Given the description of an element on the screen output the (x, y) to click on. 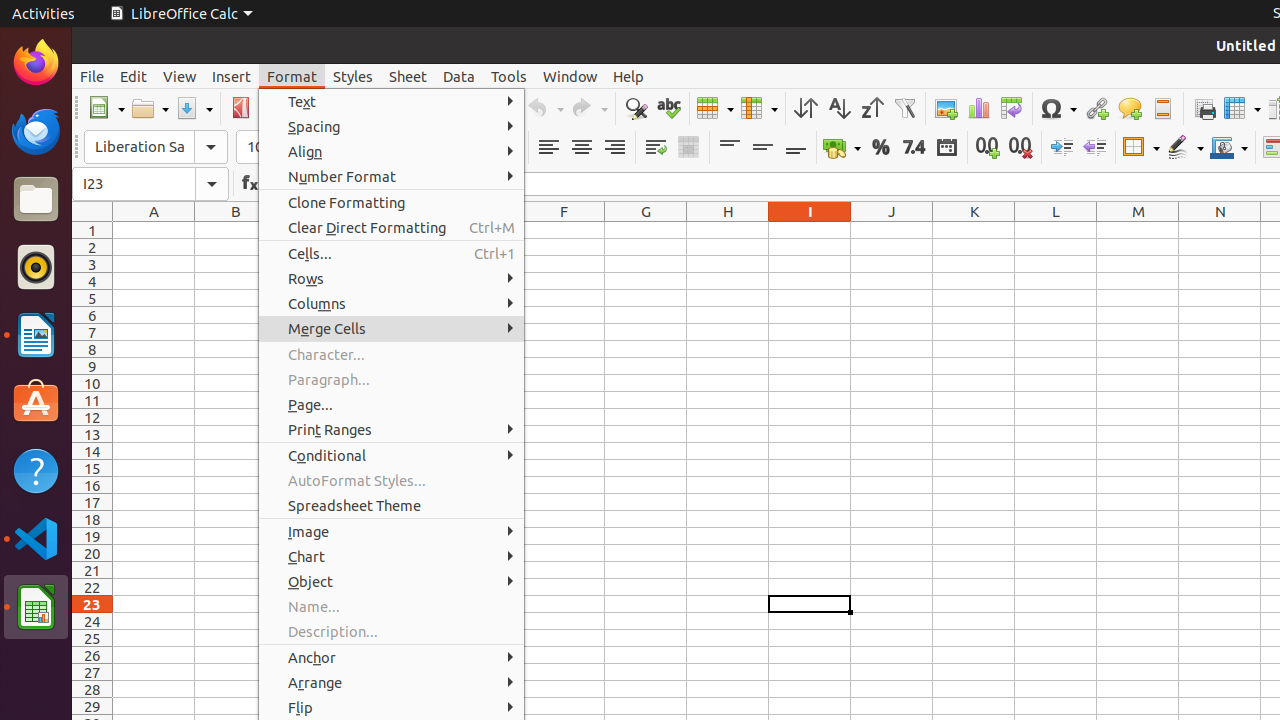
N1 Element type: table-cell (1220, 230)
Columns Element type: menu (391, 303)
Font Name Element type: panel (156, 147)
Trash Element type: label (133, 191)
Border Style Element type: push-button (1185, 147)
